Given the description of an element on the screen output the (x, y) to click on. 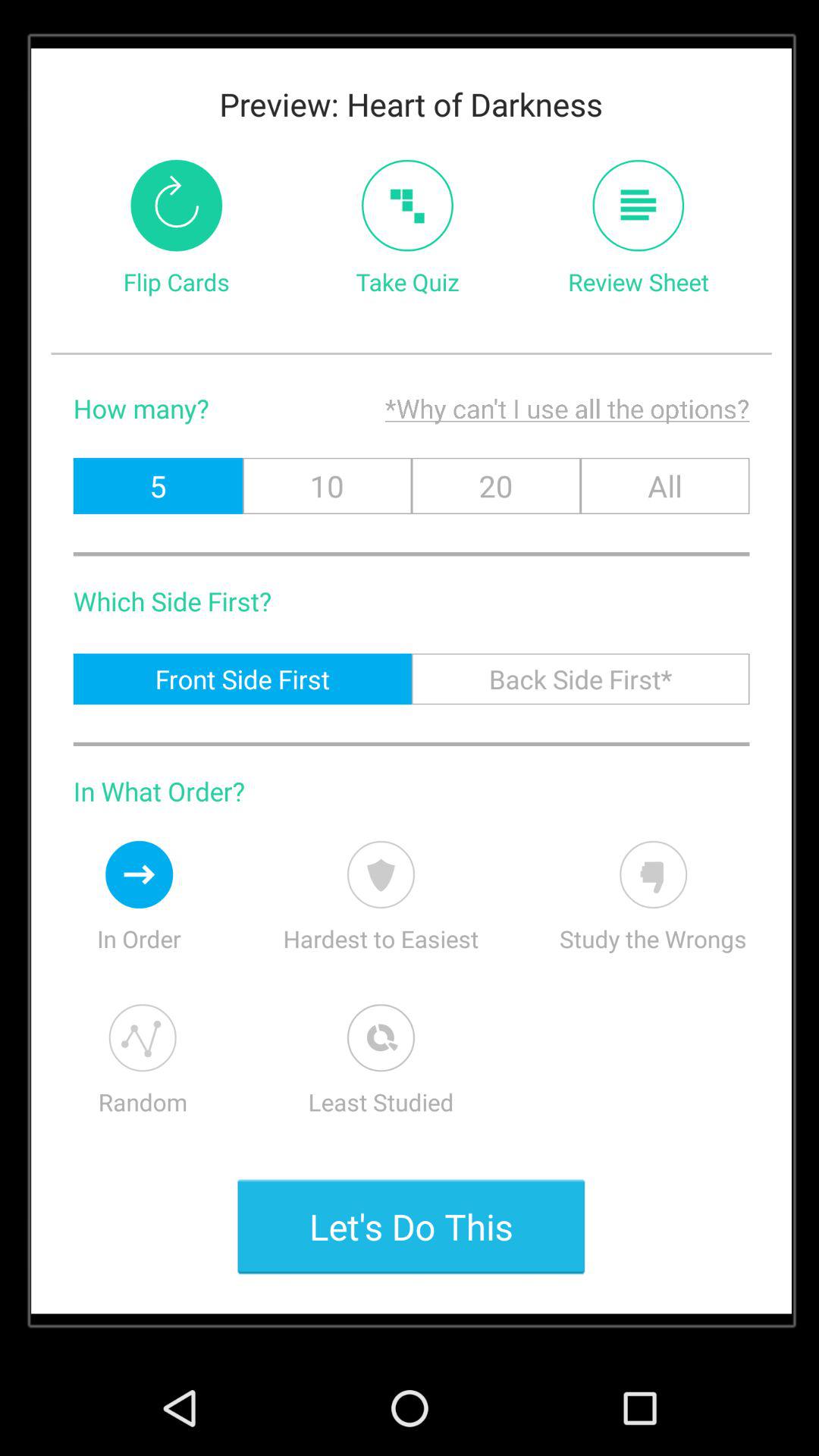
review sheet tab (638, 205)
